Given the description of an element on the screen output the (x, y) to click on. 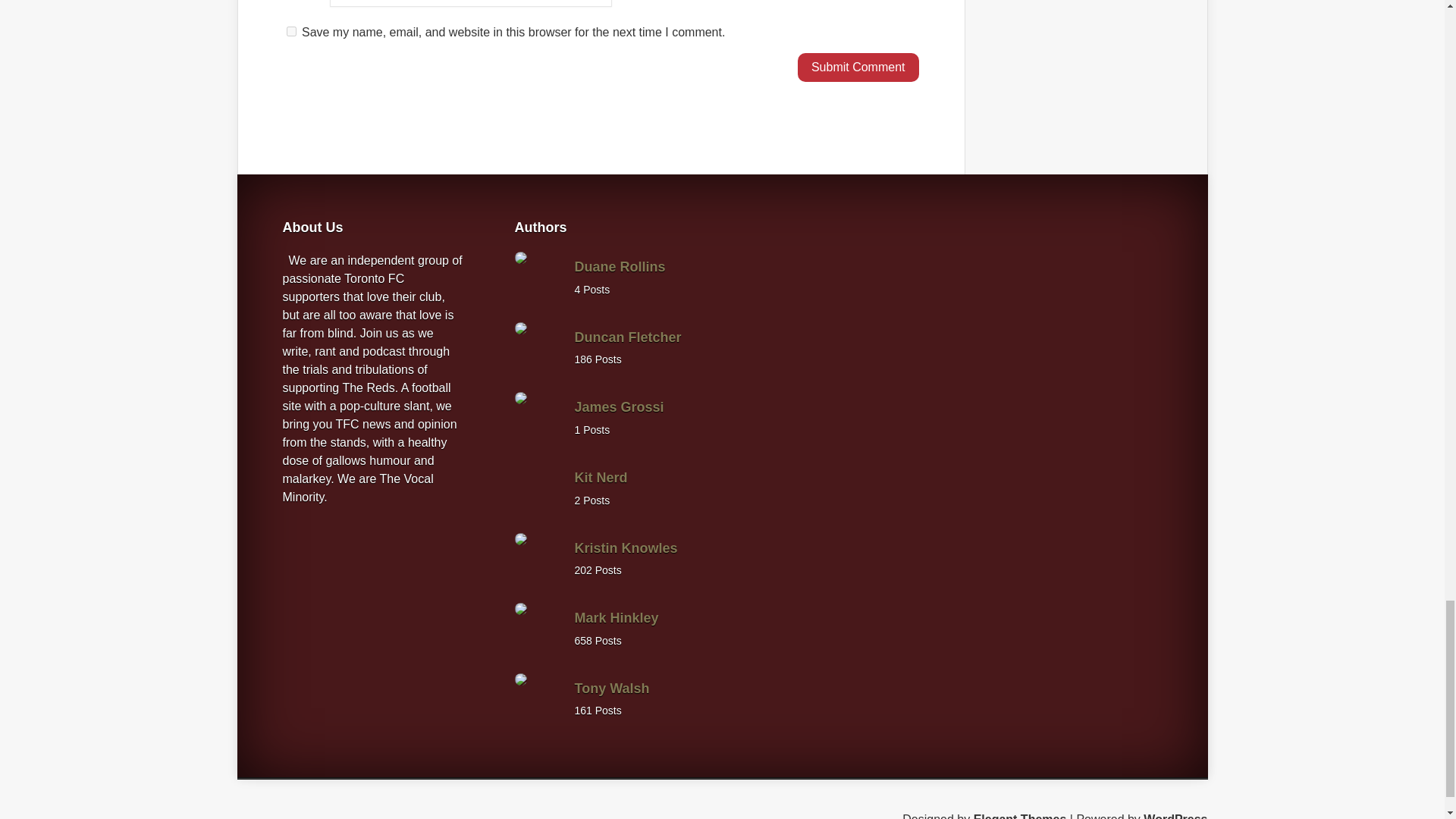
Submit Comment (857, 67)
yes (291, 31)
Submit Comment (857, 67)
Premium WordPress Themes (1020, 816)
